Given the description of an element on the screen output the (x, y) to click on. 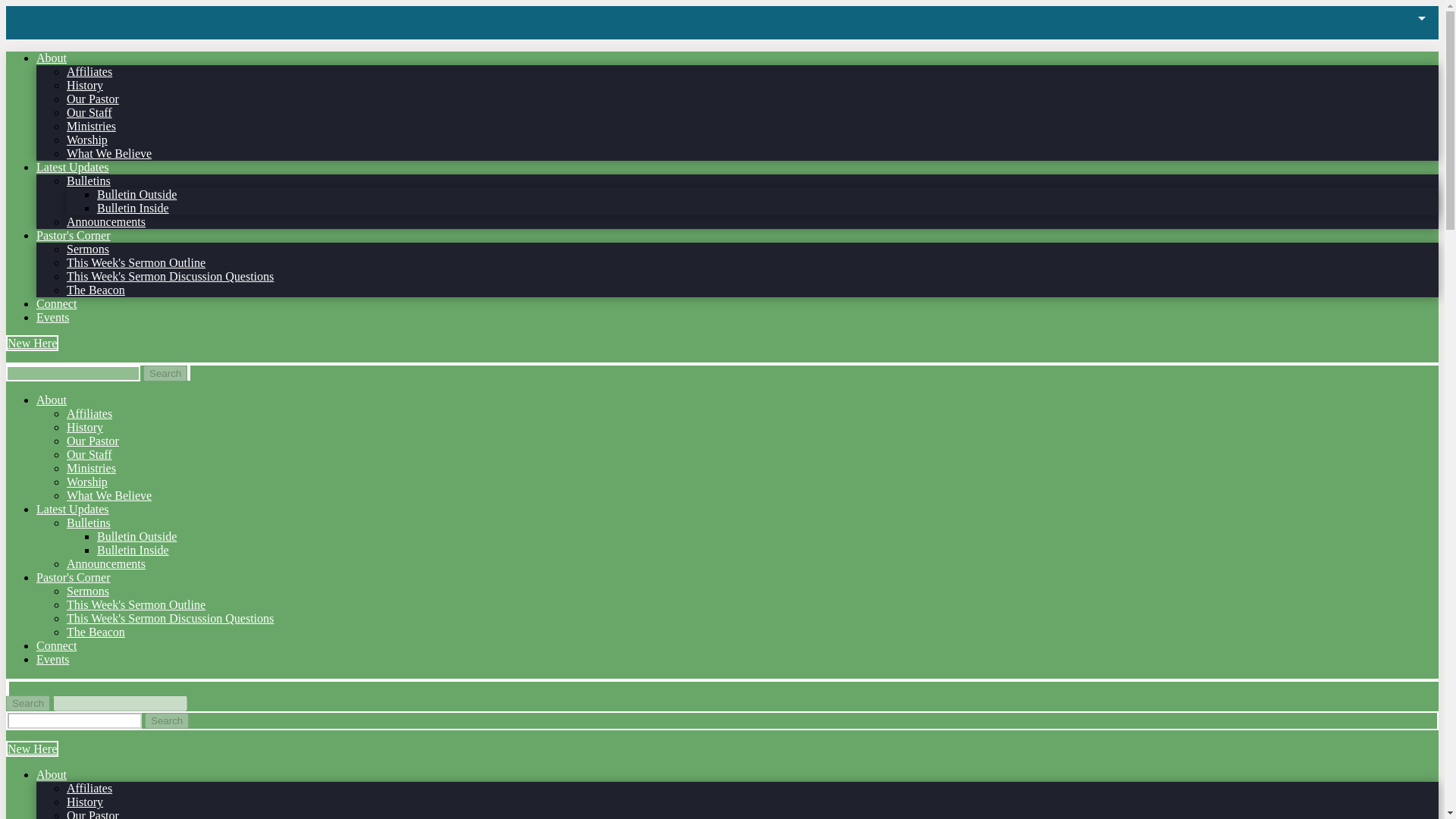
Bulletins (88, 522)
Bulletin Outside (136, 194)
About (51, 57)
What We Believe (108, 495)
Search (164, 373)
History (84, 84)
Bulletin Outside (136, 535)
Announcements (105, 221)
Affiliates (89, 413)
Latest Updates (72, 508)
Connect (56, 303)
Announcements (105, 563)
History (84, 427)
Search (166, 720)
Events (52, 317)
